Given the description of an element on the screen output the (x, y) to click on. 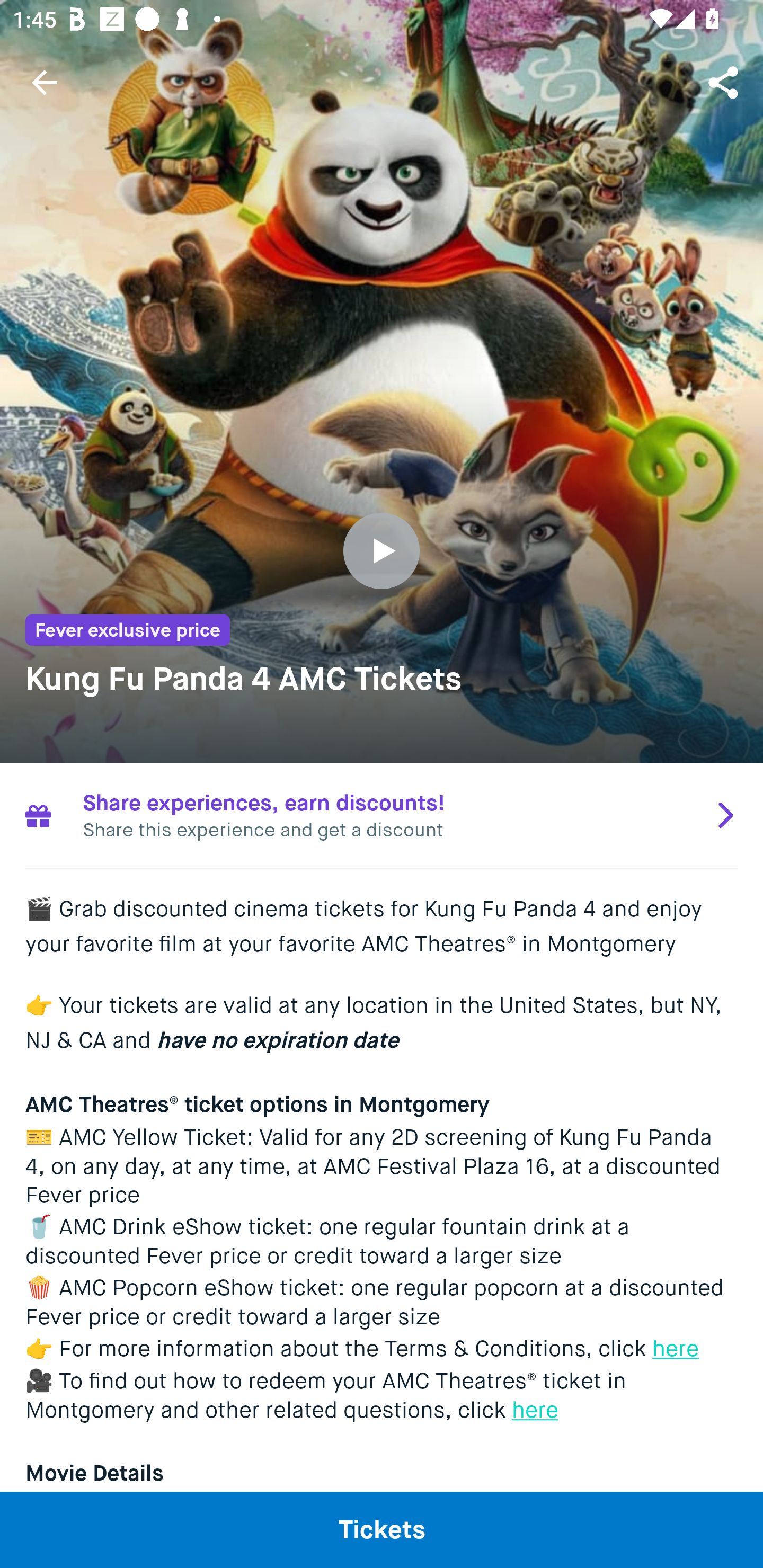
Navigate up (44, 82)
Share (724, 81)
Tickets (381, 1529)
